Given the description of an element on the screen output the (x, y) to click on. 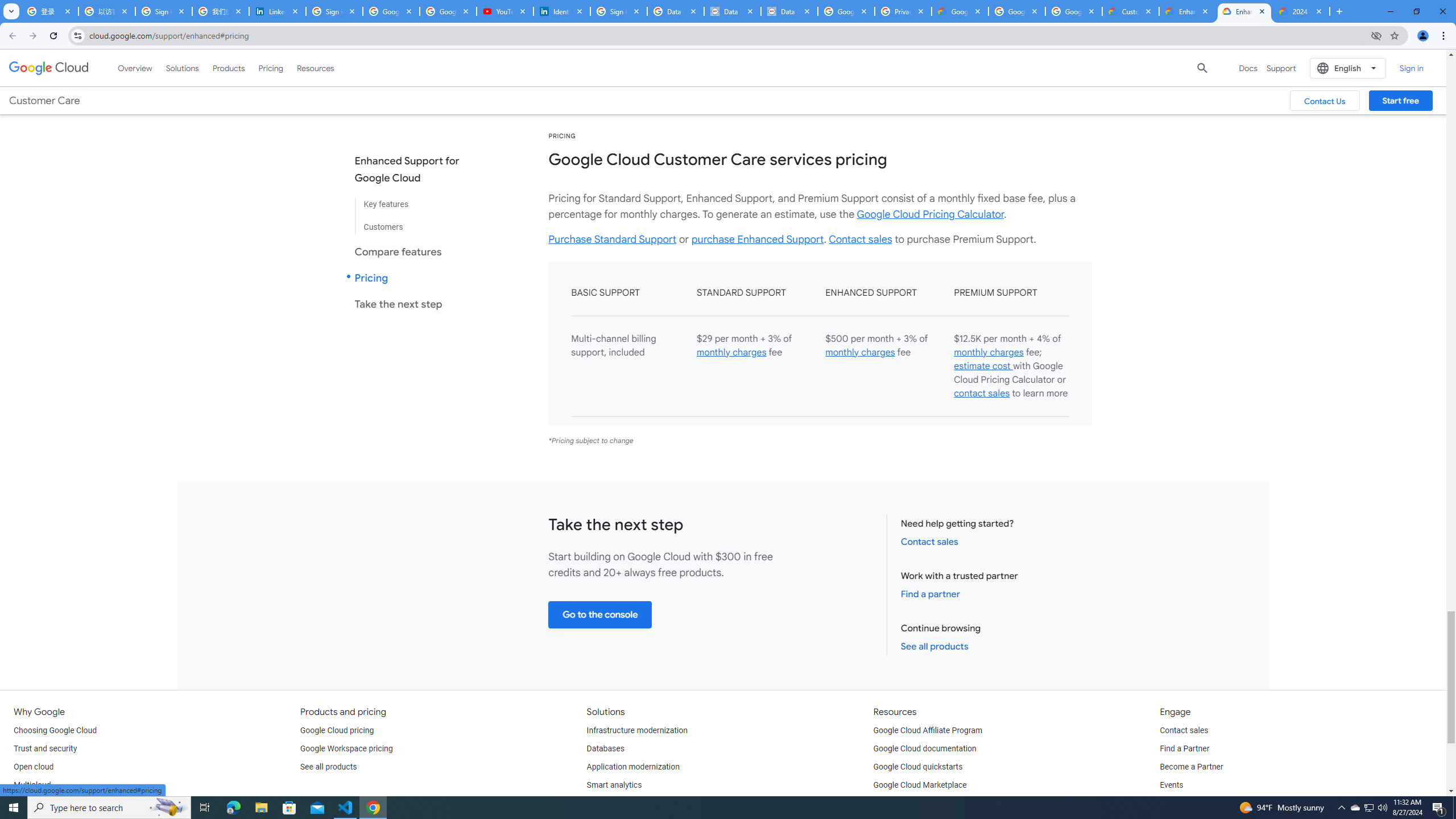
Smart analytics (614, 784)
Google Cloud Marketplace (919, 784)
Trust and security (45, 748)
Google Cloud Terms Directory | Google Cloud (959, 11)
Google Cloud Affiliate Program (927, 730)
Sign in - Google Accounts (334, 11)
Resources (314, 67)
Assured Support (1004, 43)
Data Privacy Framework (788, 11)
purchase Enhanced Support (757, 238)
